Given the description of an element on the screen output the (x, y) to click on. 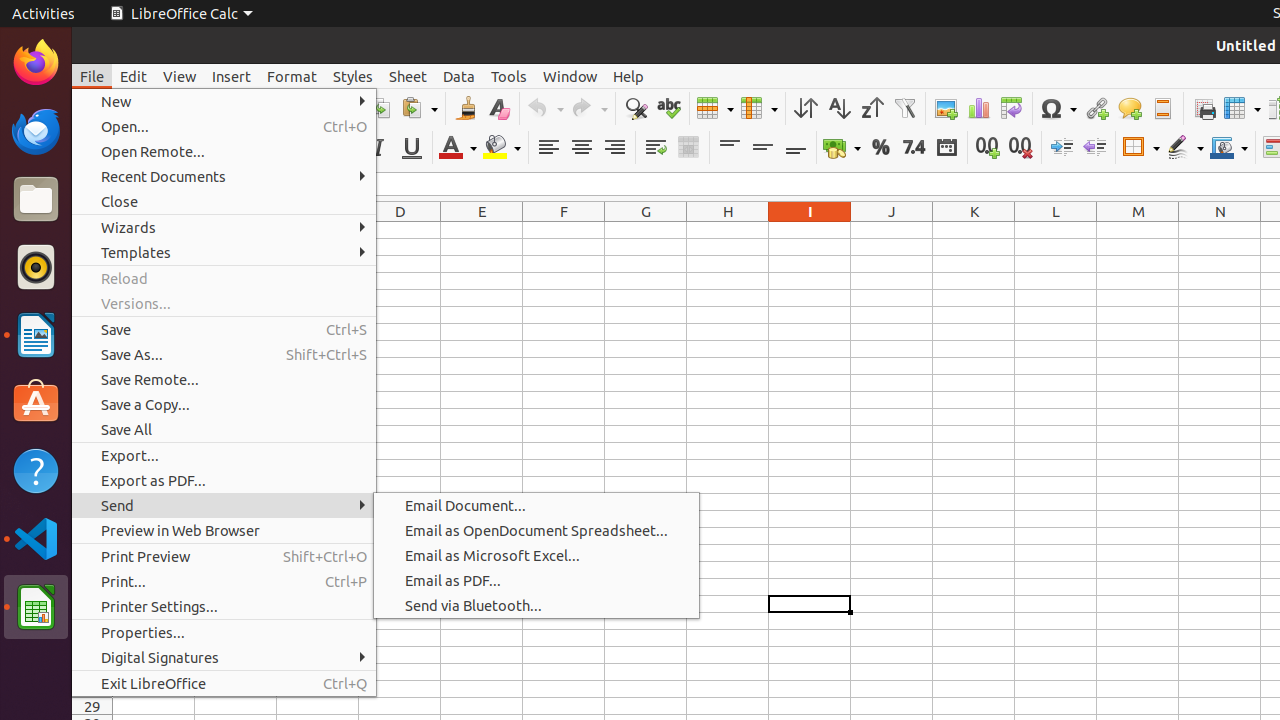
Center Vertically Element type: push-button (762, 147)
Image Element type: push-button (945, 108)
Number Element type: push-button (913, 147)
Pivot Table Element type: push-button (1011, 108)
Merge and Center Cells Element type: push-button (688, 147)
